Given the description of an element on the screen output the (x, y) to click on. 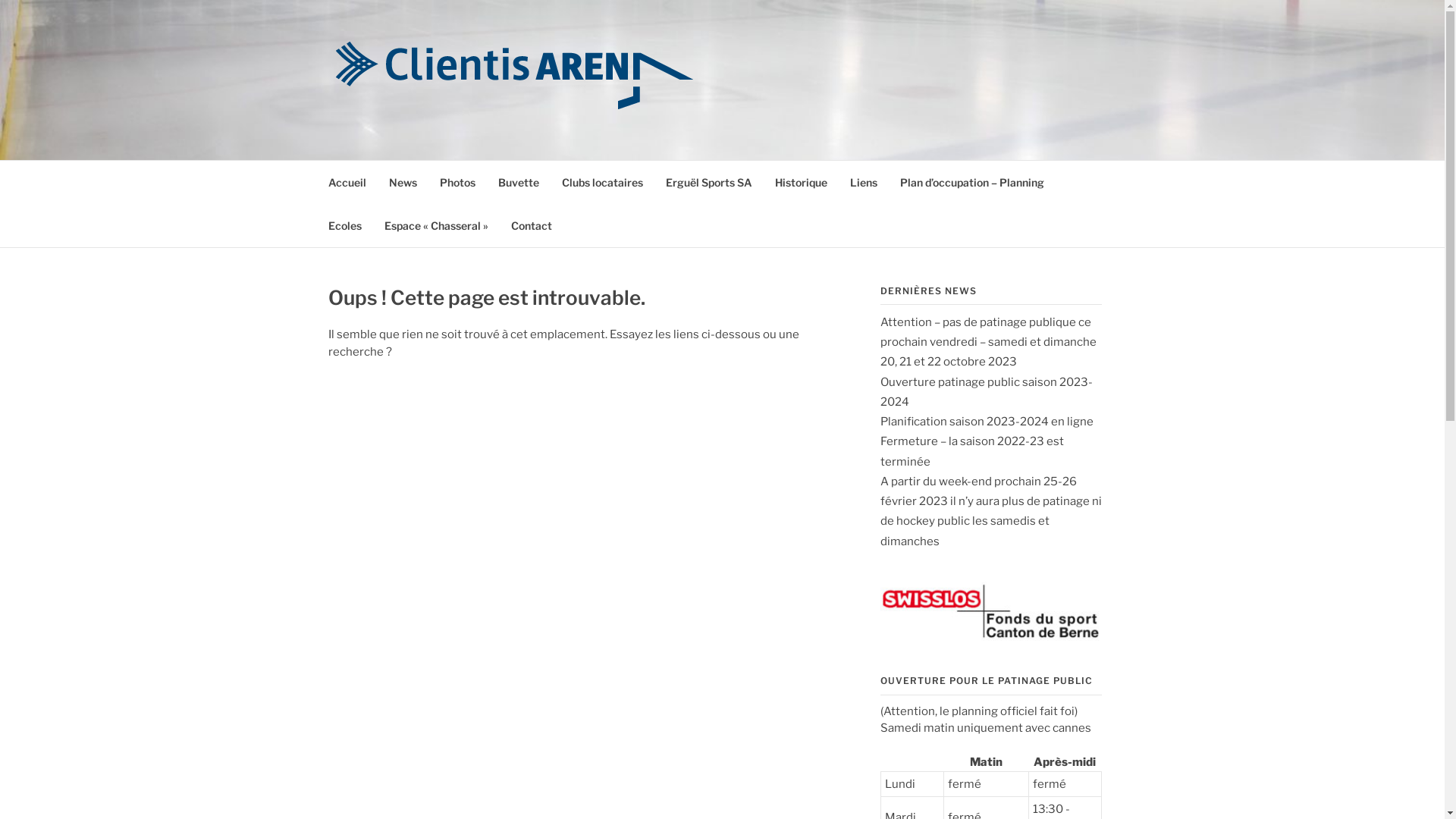
News Element type: text (402, 181)
Planification saison 2023-2024 en ligne Element type: text (985, 421)
Accueil Element type: text (346, 181)
Buvette Element type: text (517, 181)
Liens Element type: text (862, 181)
Clubs locataires Element type: text (601, 181)
Ecoles Element type: text (343, 224)
Photos Element type: text (457, 181)
Contact Element type: text (531, 224)
Ouverture patinage public saison 2023-2024 Element type: text (985, 391)
Historique Element type: text (801, 181)
